Given the description of an element on the screen output the (x, y) to click on. 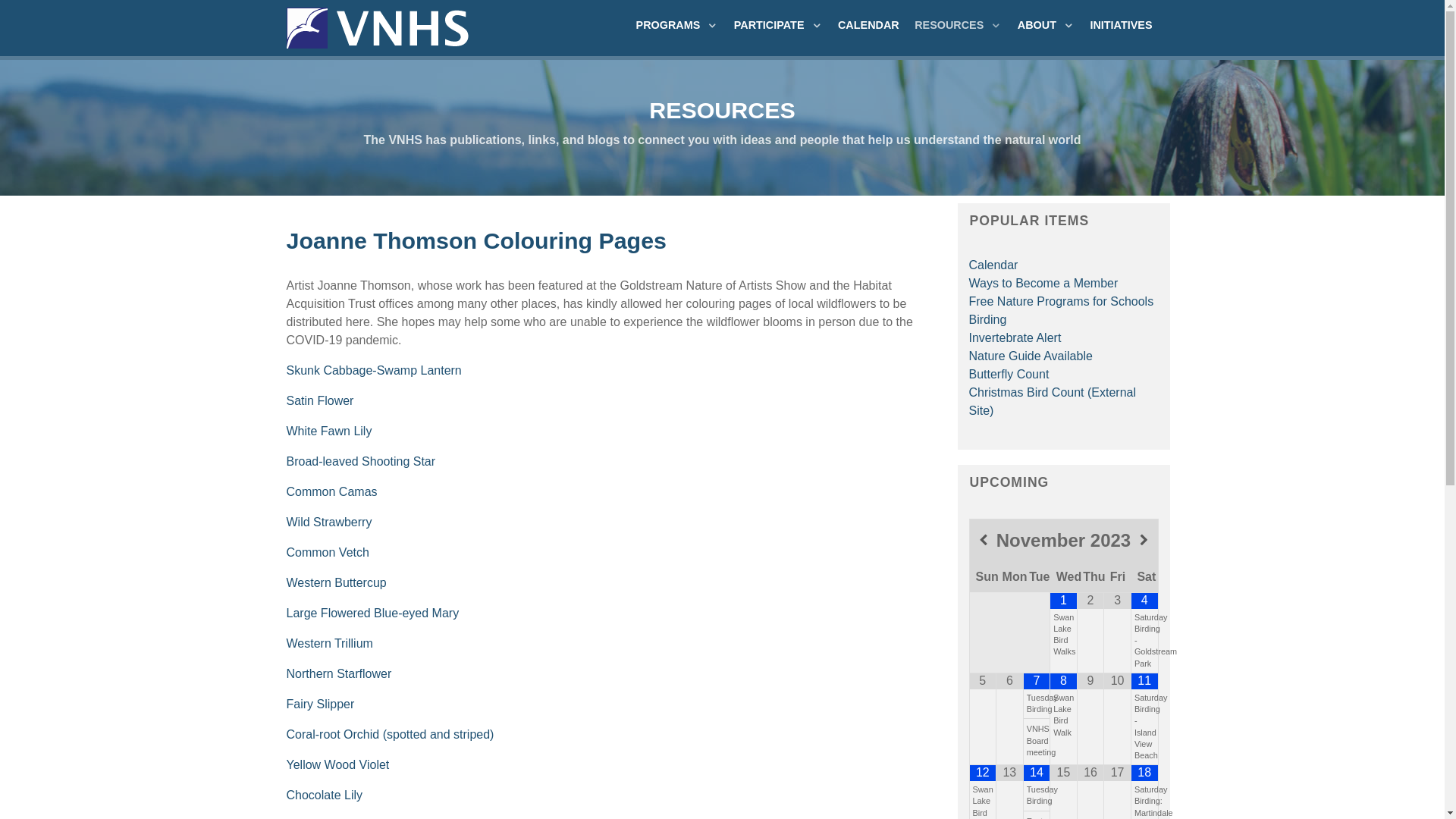
Broad-leaved Shooting Star Element type: text (361, 461)
Calendar Element type: text (993, 264)
Western Buttercup Element type: text (336, 582)
Yellow Wood Violet Element type: text (337, 764)
Nature Guide Available Element type: text (1030, 355)
Large Flowered Blue-eyed Mary Element type: text (372, 612)
Common Vetch Element type: text (327, 552)
INITIATIVES Element type: text (1120, 24)
Skunk Cabbage-Swamp Lantern Element type: text (373, 370)
Joanne Thomson Colouring Pages Element type: text (476, 240)
Birding Element type: text (988, 319)
Invertebrate Alert Element type: text (1015, 337)
Isotope. Element type: hover (379, 25)
Next Month Element type: hover (1143, 539)
Free Nature Programs for Schools Element type: text (1061, 300)
Coral-root Orchid (spotted and striped) Element type: text (390, 734)
Western Trillium Element type: text (329, 643)
CALENDAR Element type: text (868, 24)
Satin Flower Element type: text (320, 400)
Butterfly Count Element type: text (1009, 373)
Northern Starflower Element type: text (339, 673)
Chocolate Lily Element type: text (324, 794)
Ways to Become a Member Element type: text (1043, 282)
Fairy Slipper Element type: text (320, 703)
Common Camas Element type: text (331, 491)
Christmas Bird Count (External Site) Element type: text (1052, 401)
Wild Strawberry Element type: text (329, 521)
White Fawn Lily Element type: text (329, 430)
Previous Month Element type: hover (982, 539)
